Given the description of an element on the screen output the (x, y) to click on. 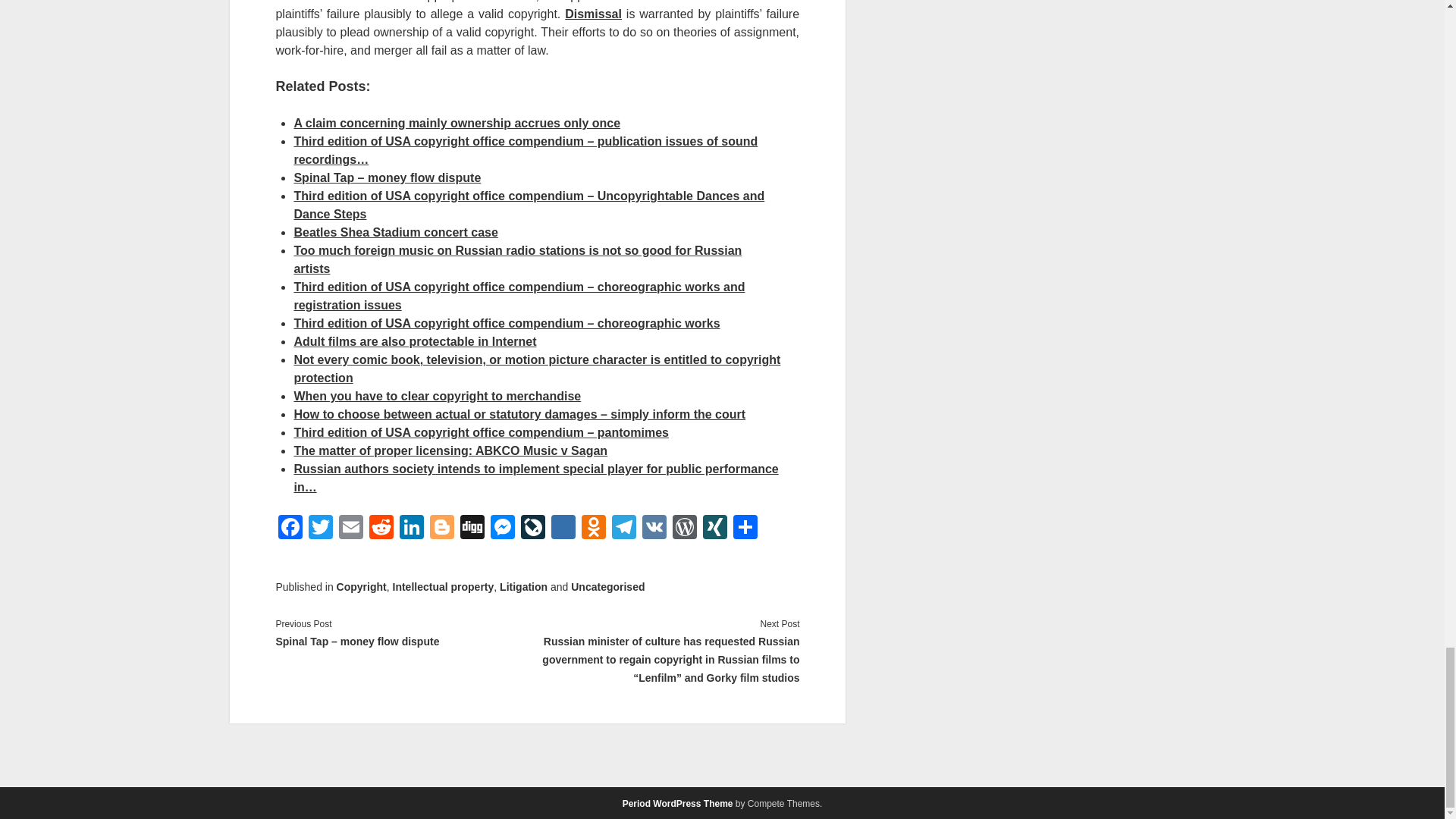
Digg (472, 528)
Reddit (381, 528)
Blogger (441, 528)
LiveJournal (533, 528)
Messenger (502, 528)
Facebook (290, 528)
Digg (472, 528)
Mail.Ru (563, 528)
When you have to clear copyright to merchandise (437, 395)
Facebook (290, 528)
Adult films are also protectable in Internet (414, 341)
Blogger (441, 528)
Dismissal (592, 13)
